Given the description of an element on the screen output the (x, y) to click on. 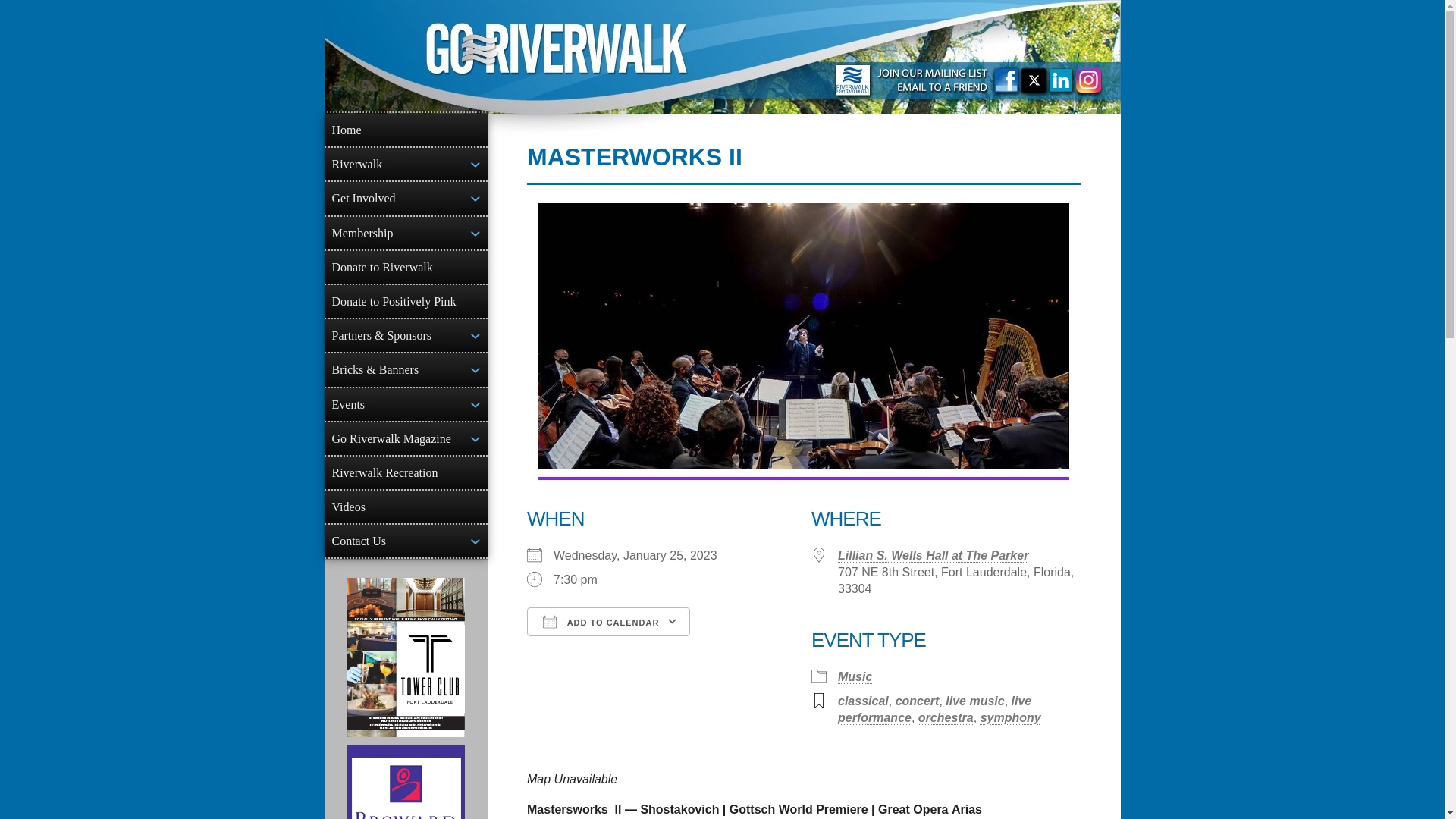
orchestra (946, 717)
live performance (934, 708)
symphony (1010, 717)
live music (974, 700)
Google Calendar (751, 648)
Riverwalk (405, 164)
concert (917, 700)
Lillian S. Wells Hall at The Parker (932, 554)
Music (855, 676)
Get Involved (405, 197)
ADD TO CALENDAR (608, 621)
classical (863, 700)
Home (405, 129)
Download ICS (601, 648)
